Given the description of an element on the screen output the (x, y) to click on. 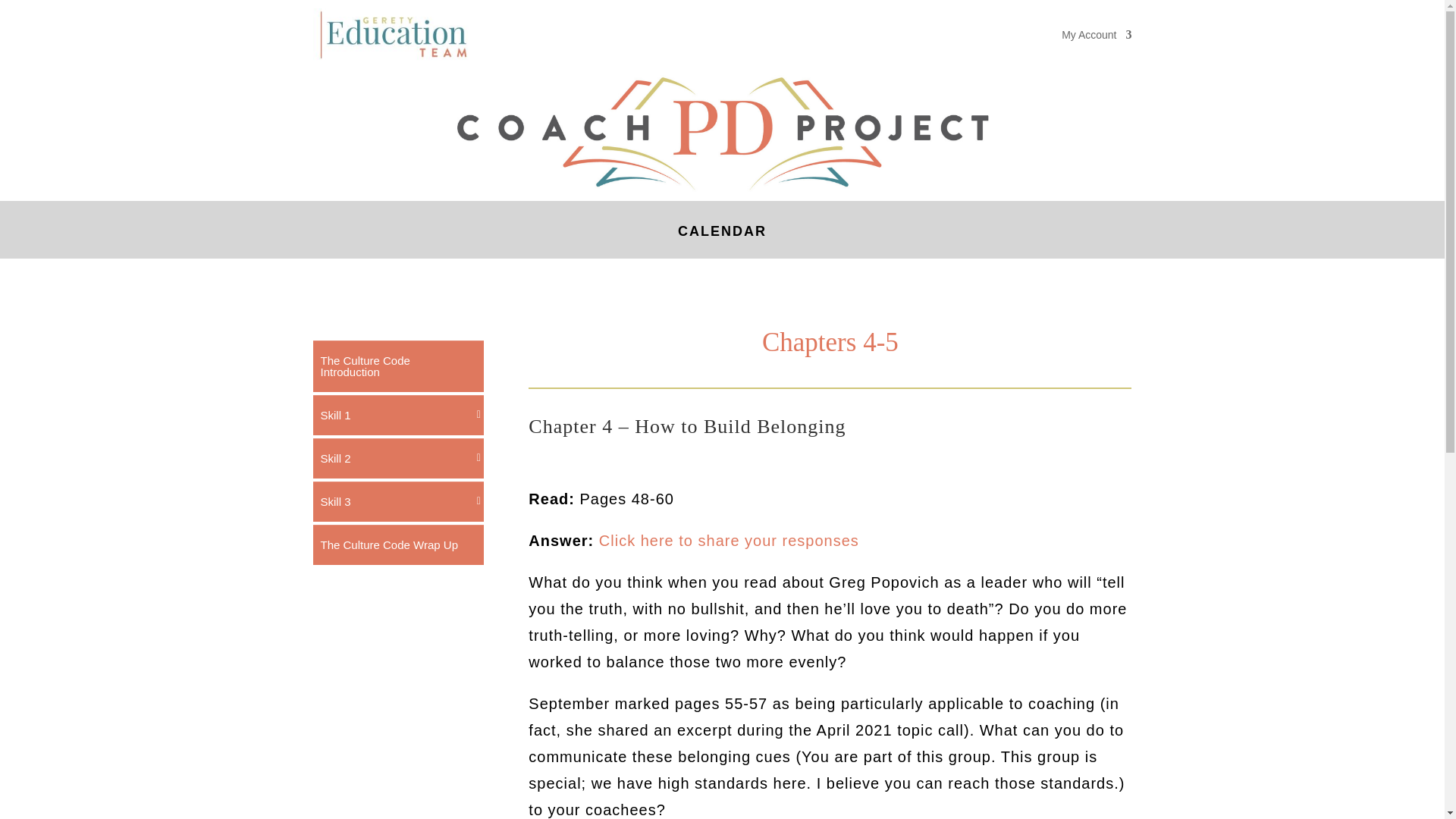
My Account (1096, 34)
Coach PD Project Logo (722, 131)
The Culture Code Wrap Up (398, 544)
The Culture Code Introduction (398, 366)
Click here to share your responses (728, 540)
CALENDAR (722, 242)
